Given the description of an element on the screen output the (x, y) to click on. 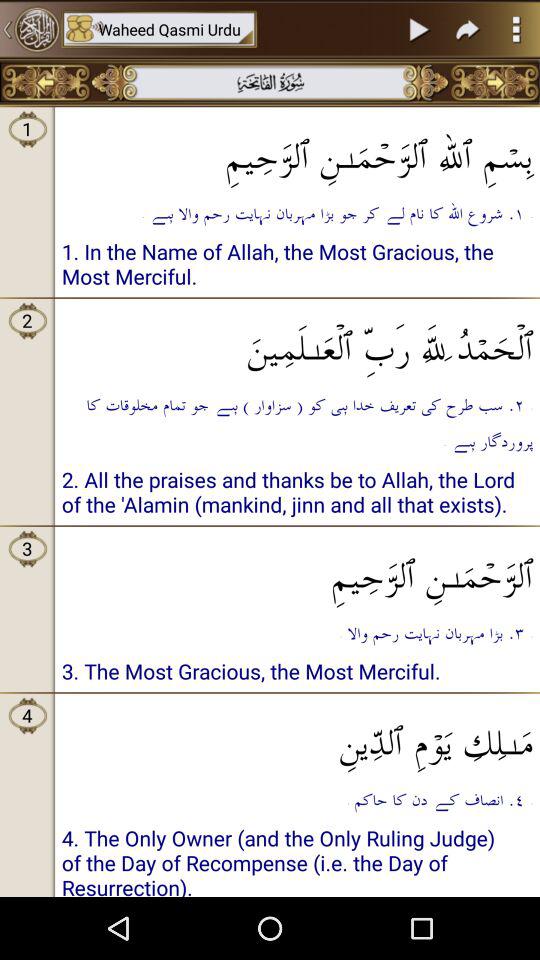
click the icon to the right of the 3 (297, 495)
